Given the description of an element on the screen output the (x, y) to click on. 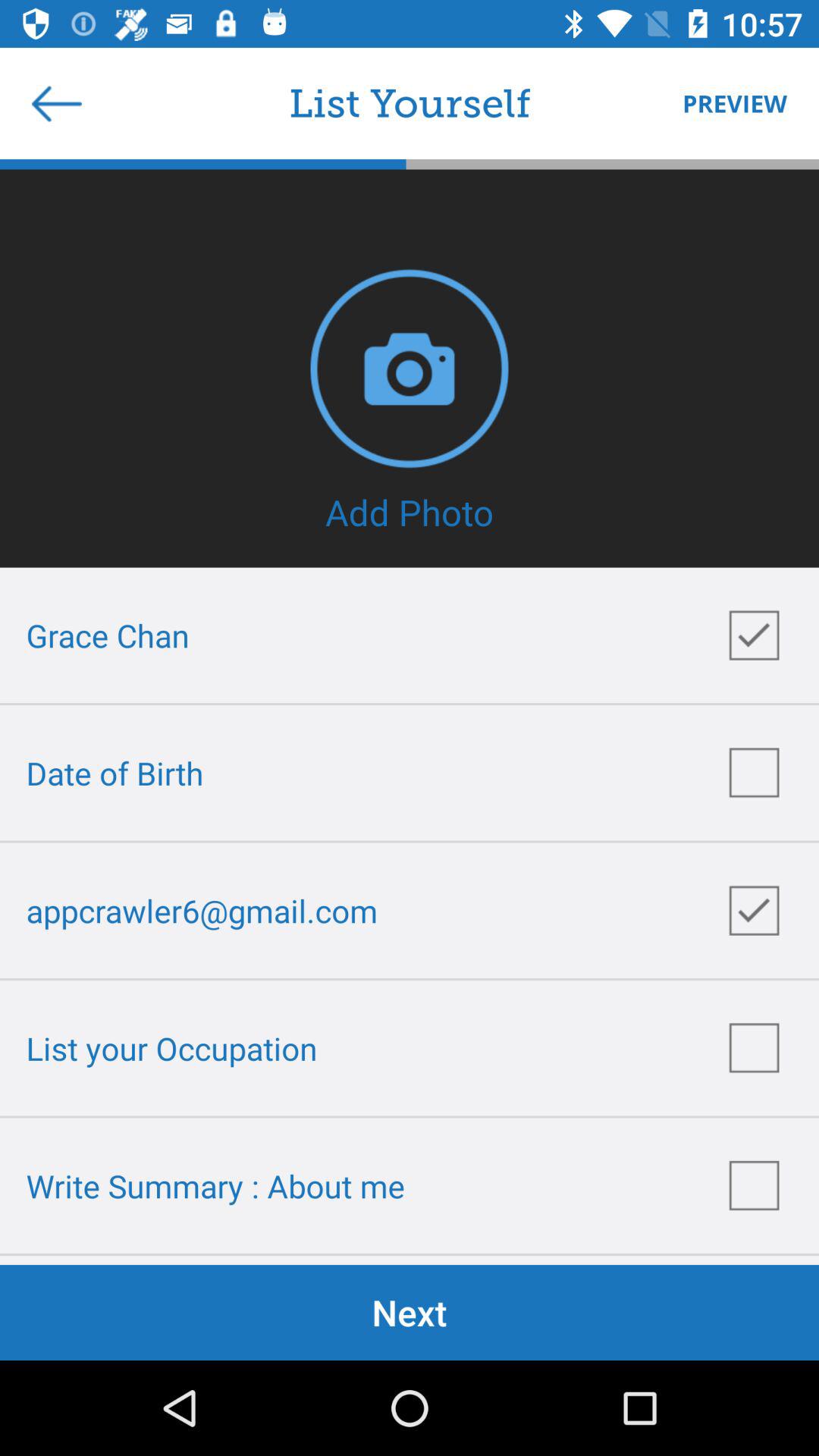
press preview item (727, 103)
